Given the description of an element on the screen output the (x, y) to click on. 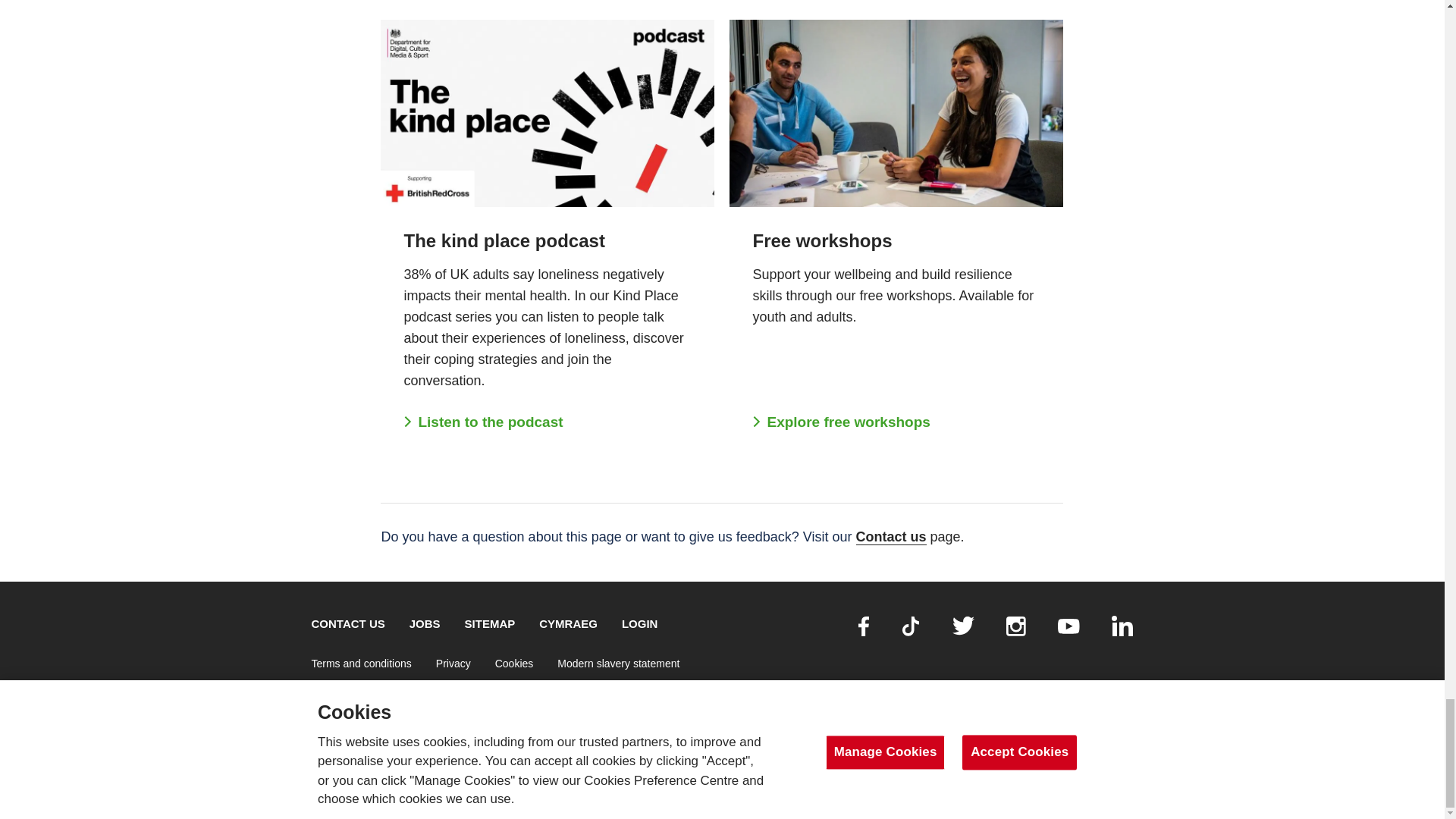
Instagram (1016, 626)
LinkedIn (1122, 625)
TikTok (910, 626)
Twitter (963, 625)
Youtube (1069, 626)
